Given the description of an element on the screen output the (x, y) to click on. 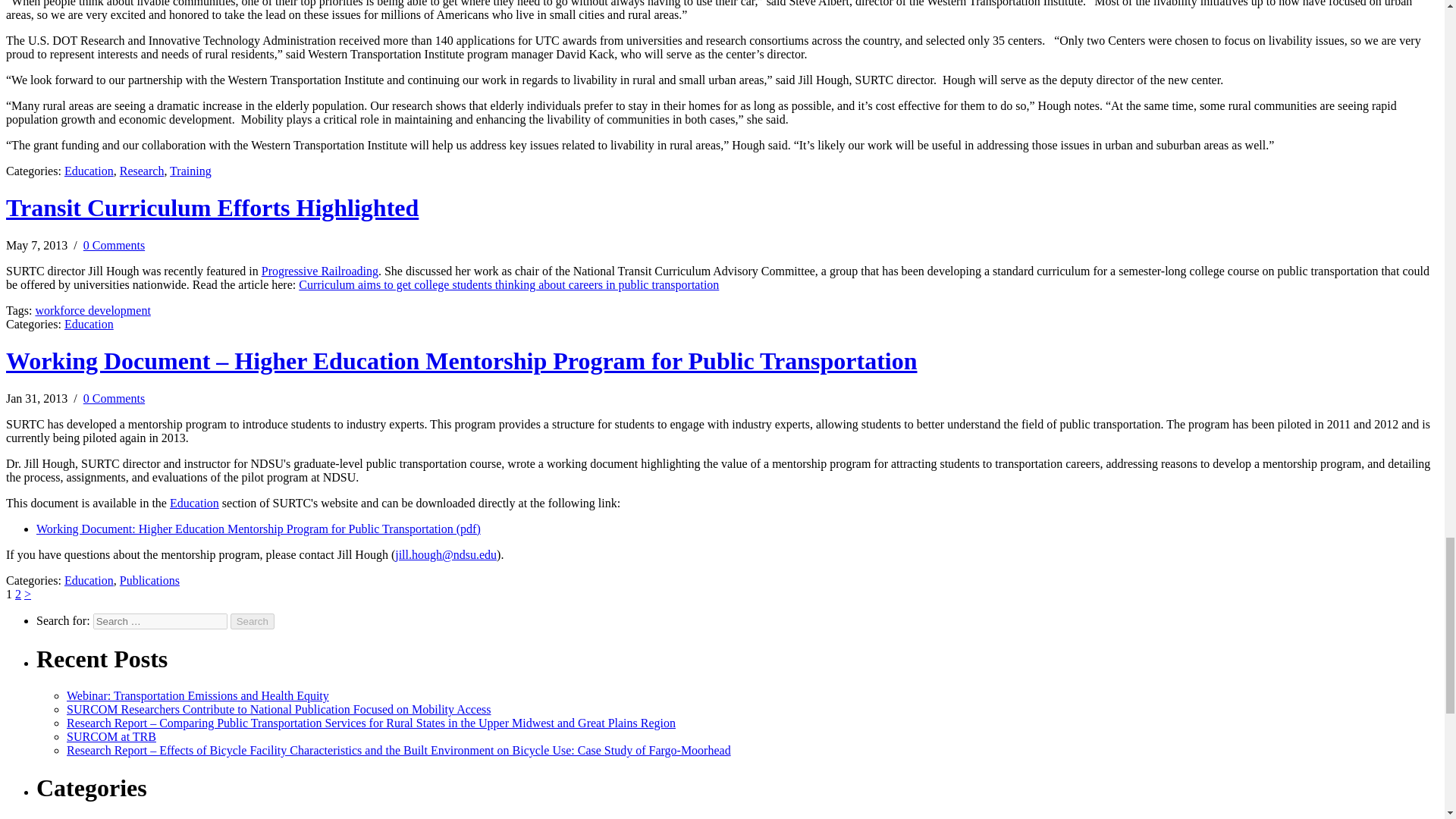
Search (252, 620)
Search (252, 620)
